Given the description of an element on the screen output the (x, y) to click on. 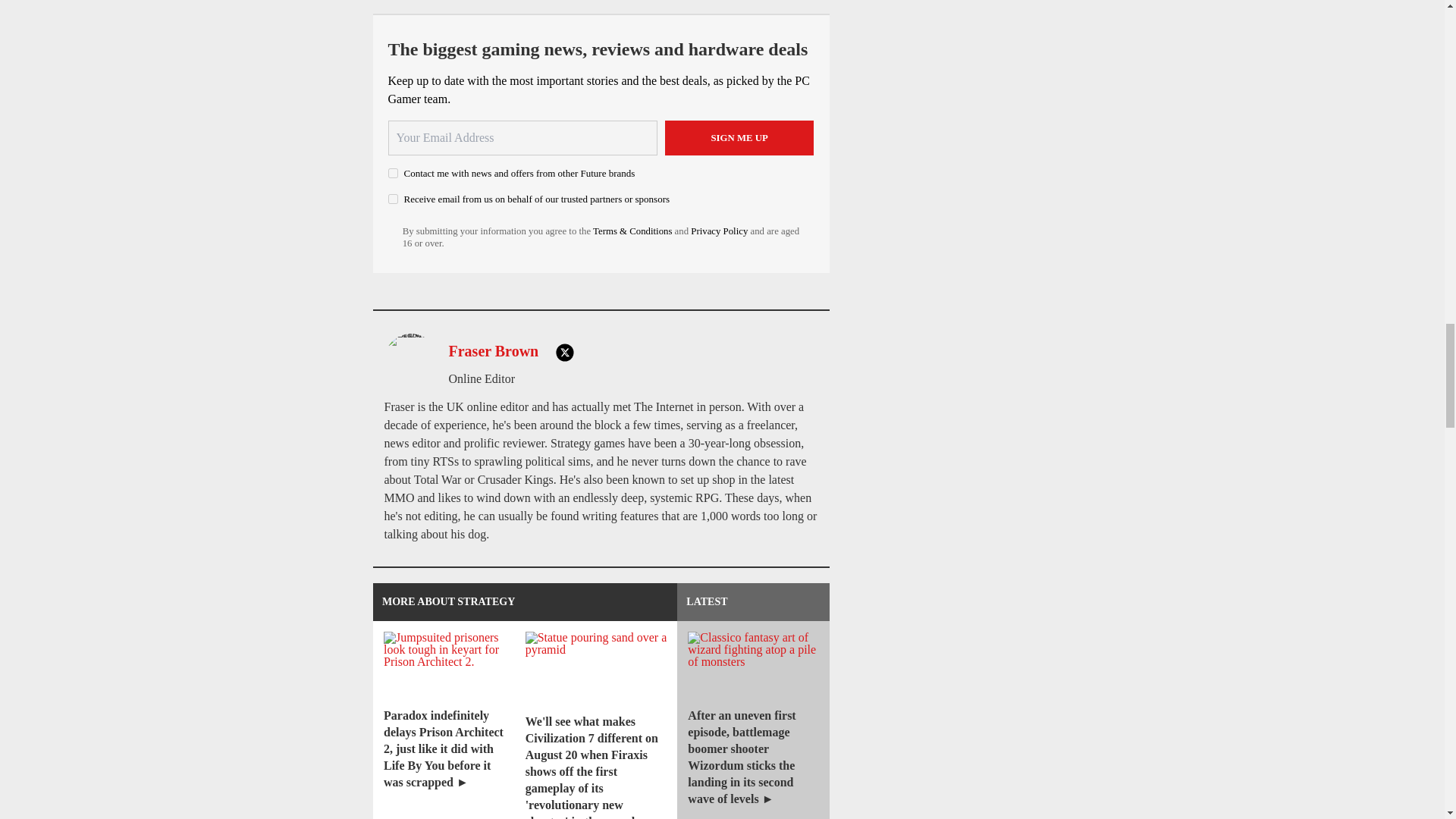
on (392, 173)
Sign me up (739, 137)
on (392, 198)
